Given the description of an element on the screen output the (x, y) to click on. 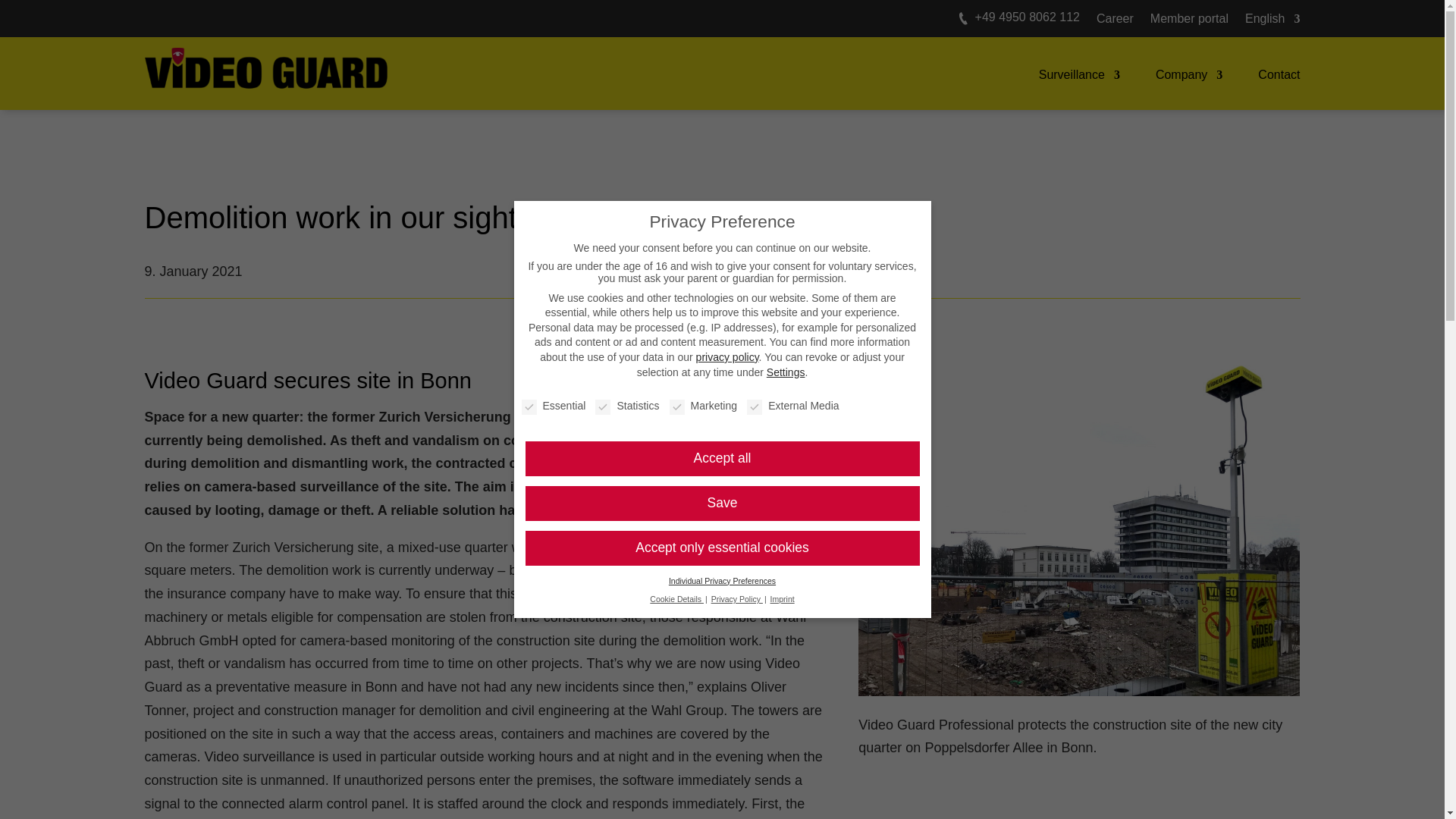
Career (1115, 21)
English (1272, 21)
Surveillance (1079, 74)
English (1272, 21)
Company (1189, 74)
Member portal (1189, 21)
